Given the description of an element on the screen output the (x, y) to click on. 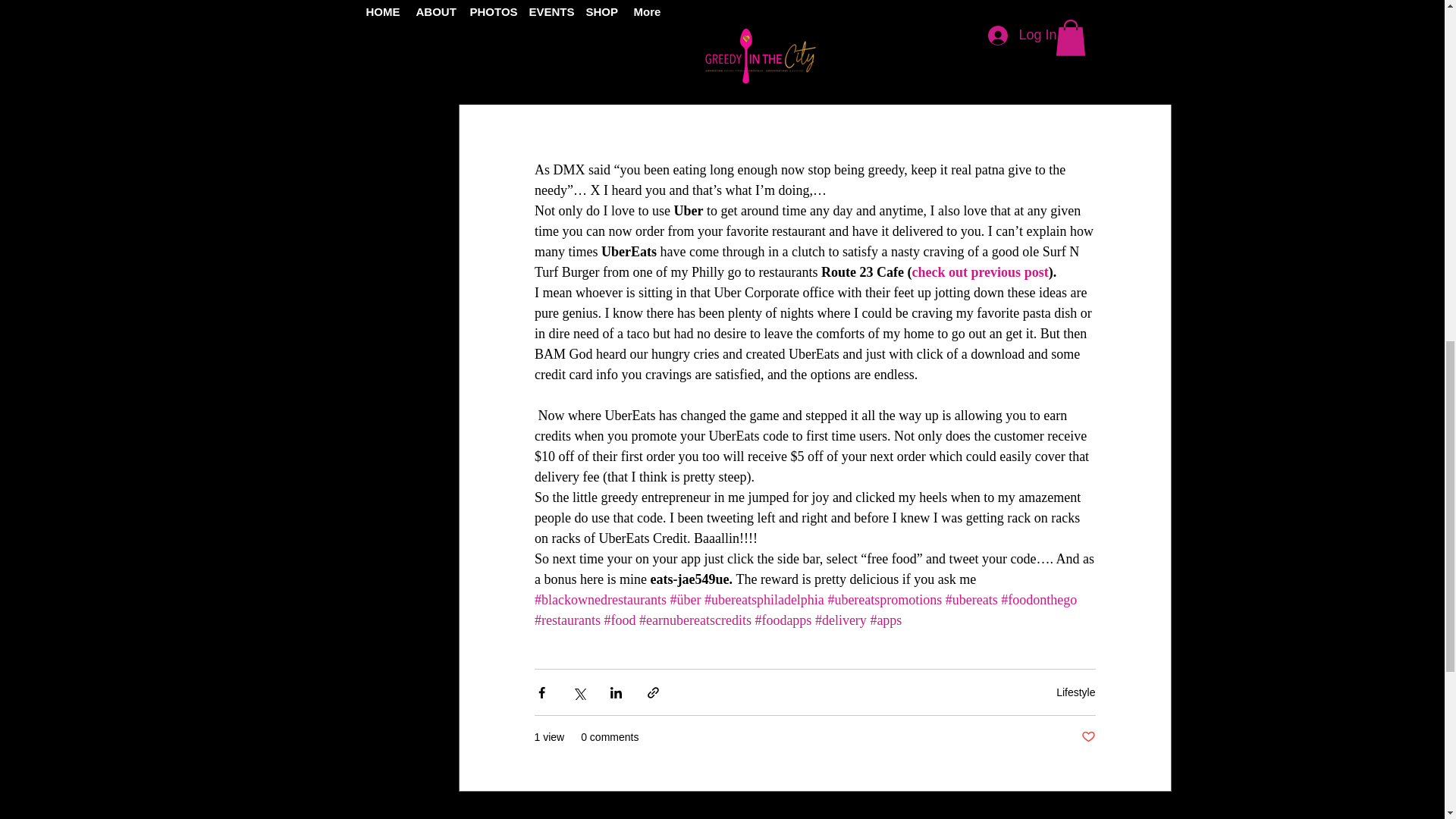
check out previous post (979, 272)
